Given the description of an element on the screen output the (x, y) to click on. 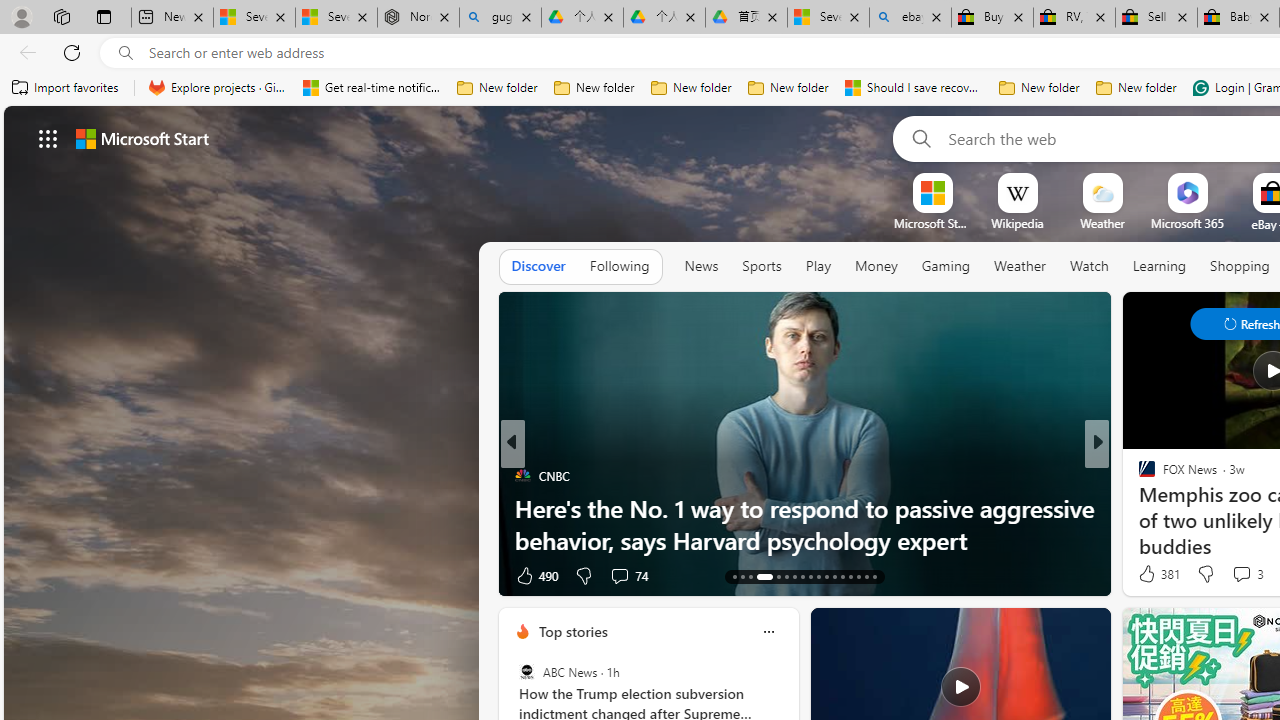
honeymallow (1138, 507)
Class: control (47, 138)
AutomationID: tab-17 (772, 576)
CNET (1138, 507)
AutomationID: tab-18 (786, 576)
View comments 10 Comment (1237, 574)
AutomationID: tab-14 (742, 576)
16 Like (532, 574)
Spotlight Feature (522, 475)
82 Like (1149, 574)
Microsoft start (142, 138)
